Given the description of an element on the screen output the (x, y) to click on. 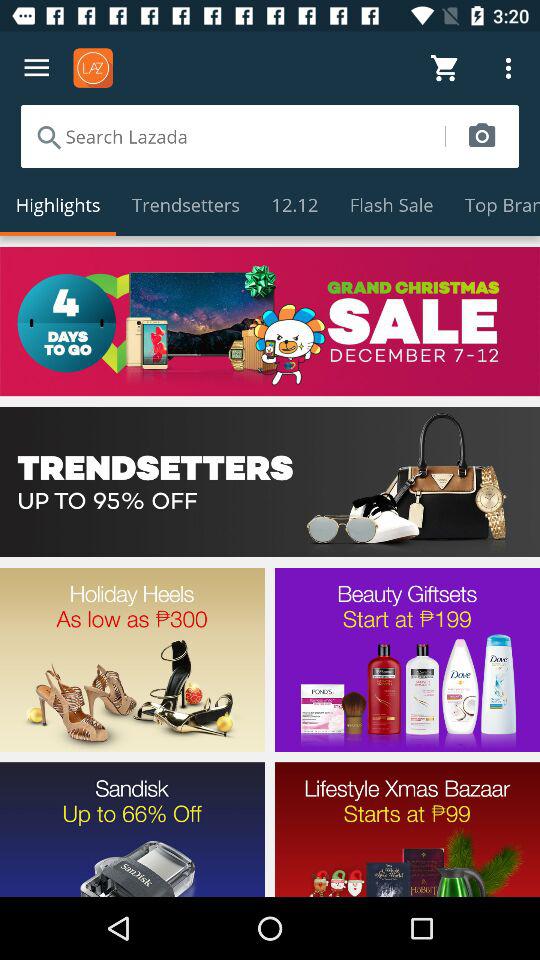
menu selection (270, 481)
